Given the description of an element on the screen output the (x, y) to click on. 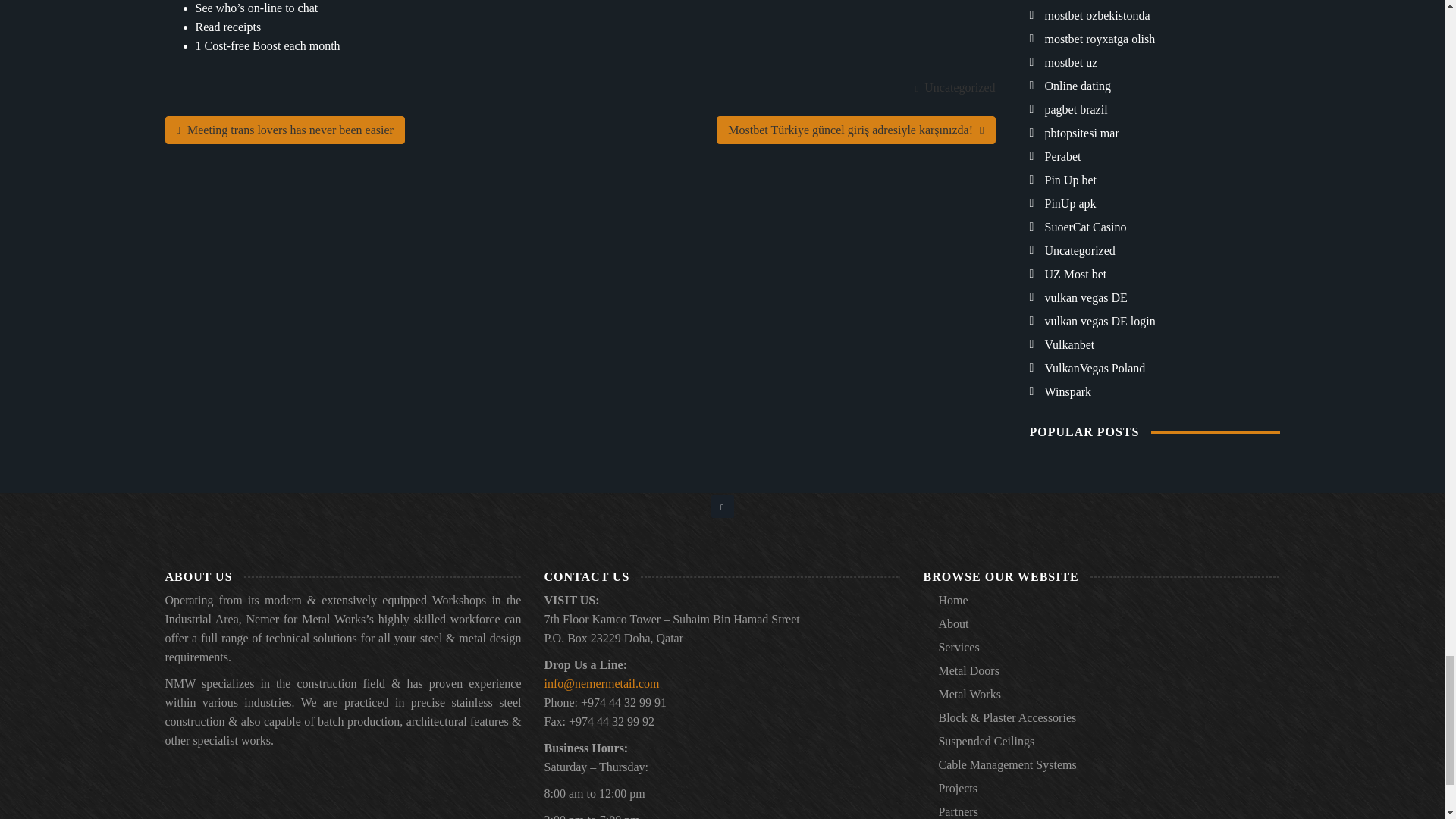
Uncategorized (959, 87)
Meeting trans lovers has never been easier (284, 130)
